Given the description of an element on the screen output the (x, y) to click on. 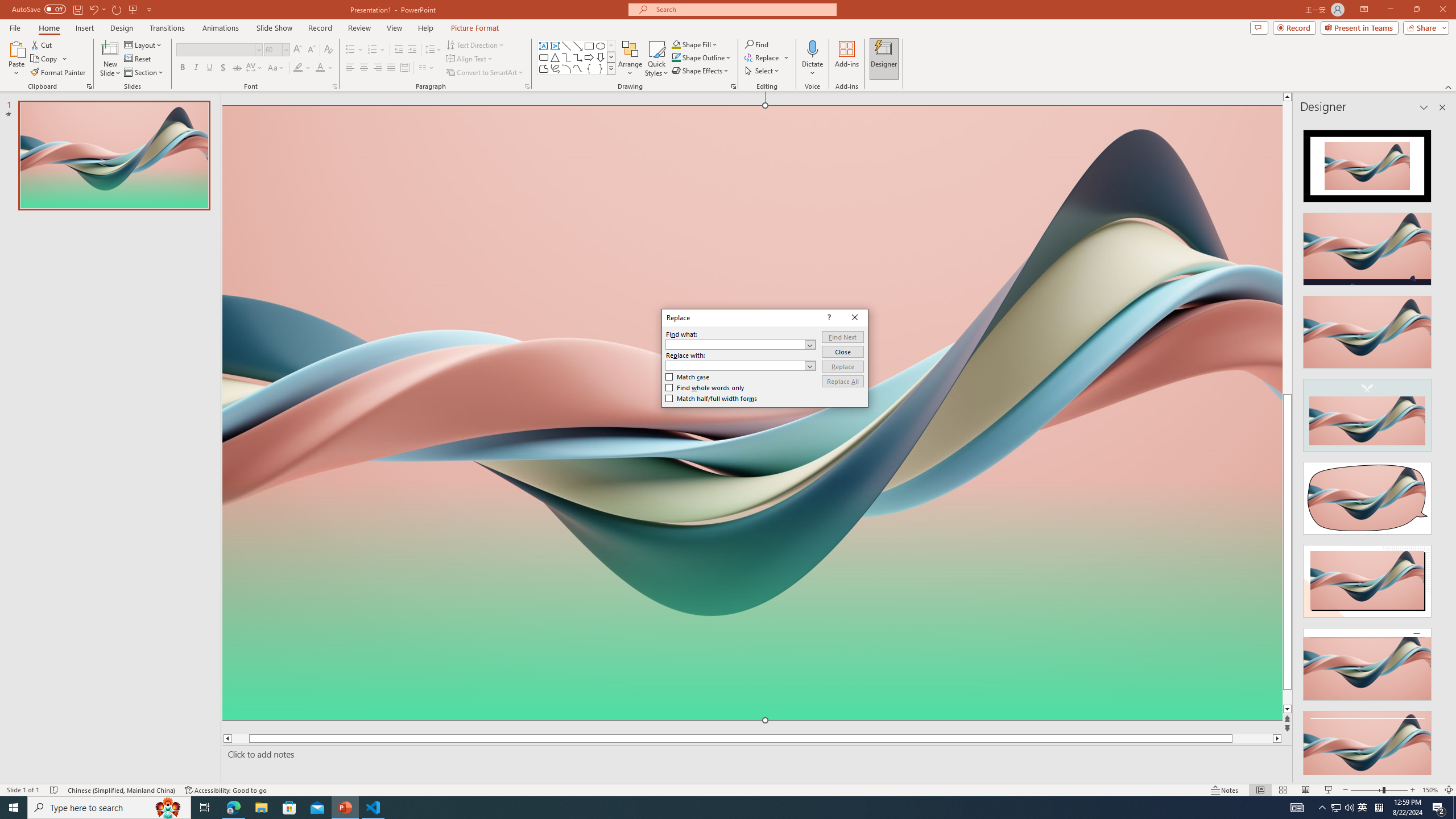
Find what (740, 344)
